Given the description of an element on the screen output the (x, y) to click on. 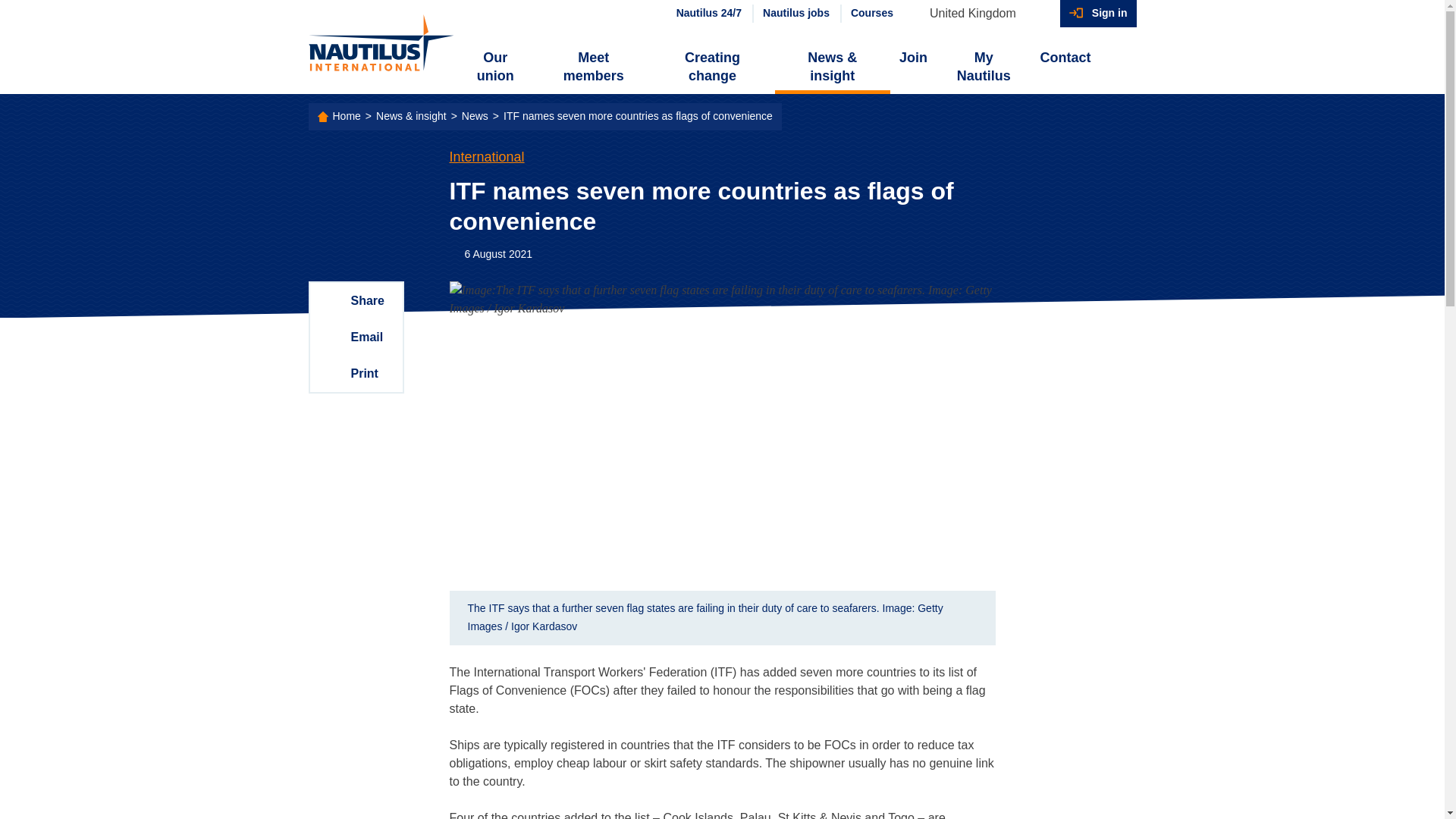
Nautilus jobs (795, 13)
Sign in (1098, 13)
Courses (871, 13)
Contact (1065, 58)
Join (912, 58)
United Kingdom (979, 13)
Our union (495, 67)
Creating change (711, 67)
My Nautilus (983, 67)
Meet members (593, 67)
